Given the description of an element on the screen output the (x, y) to click on. 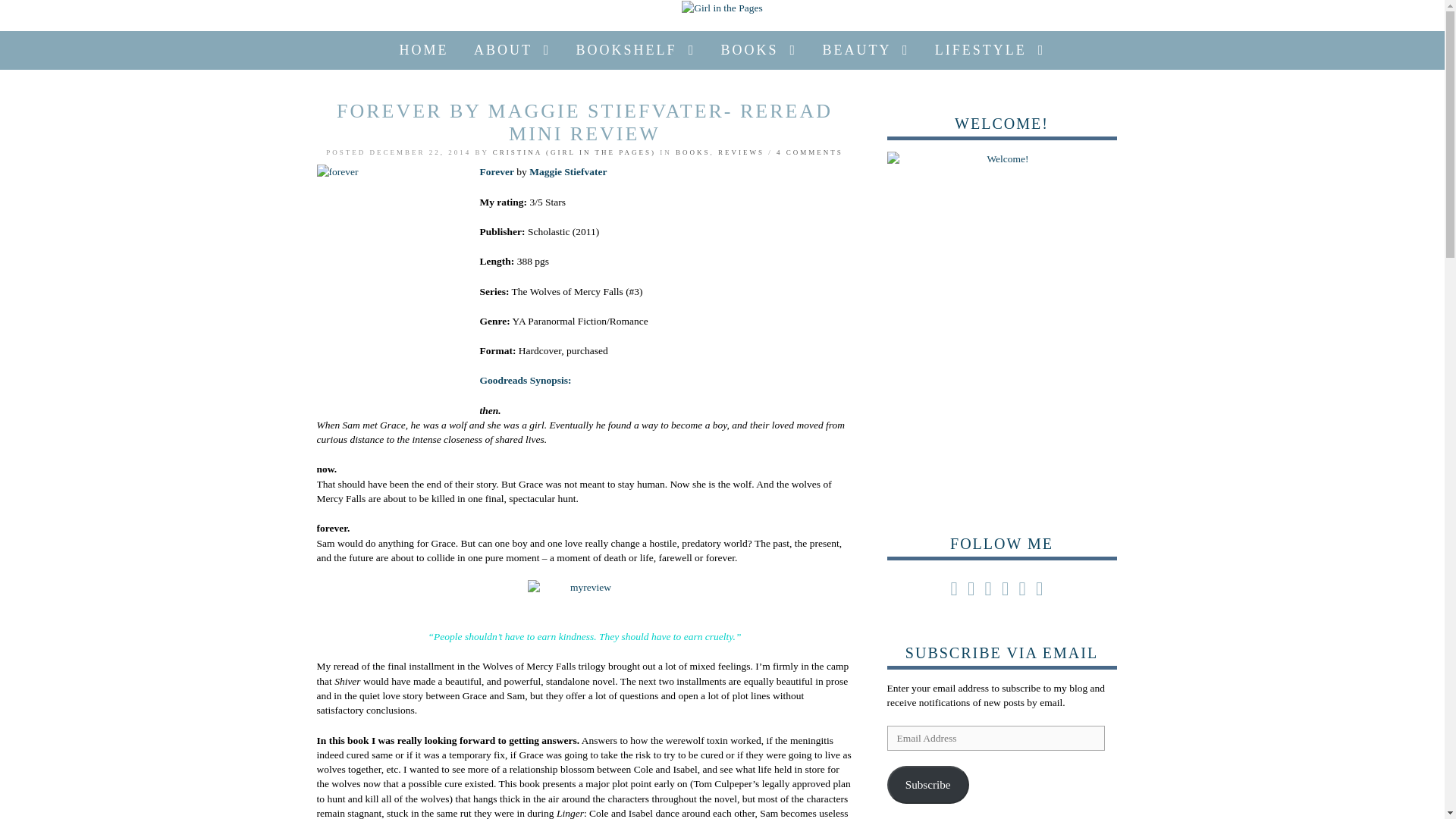
BEAUTY   (865, 50)
HOME (424, 50)
BOOKSHELF   (635, 50)
LIFESTYLE   (990, 50)
BOOKS   (759, 50)
View all posts in Books (692, 152)
View all posts in Reviews (740, 152)
ABOUT   (512, 50)
